Given the description of an element on the screen output the (x, y) to click on. 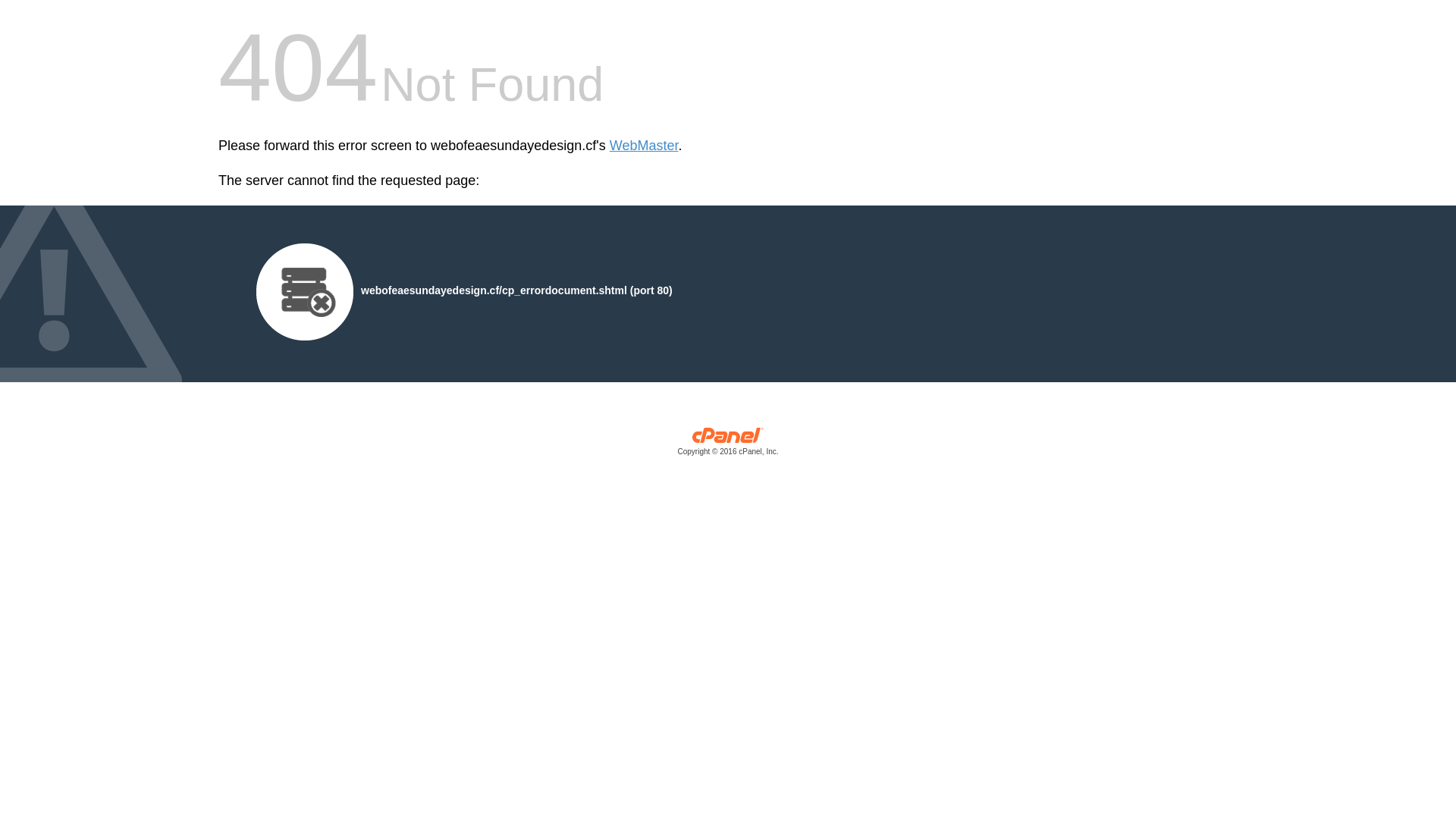
WebMaster Element type: text (643, 145)
